Given the description of an element on the screen output the (x, y) to click on. 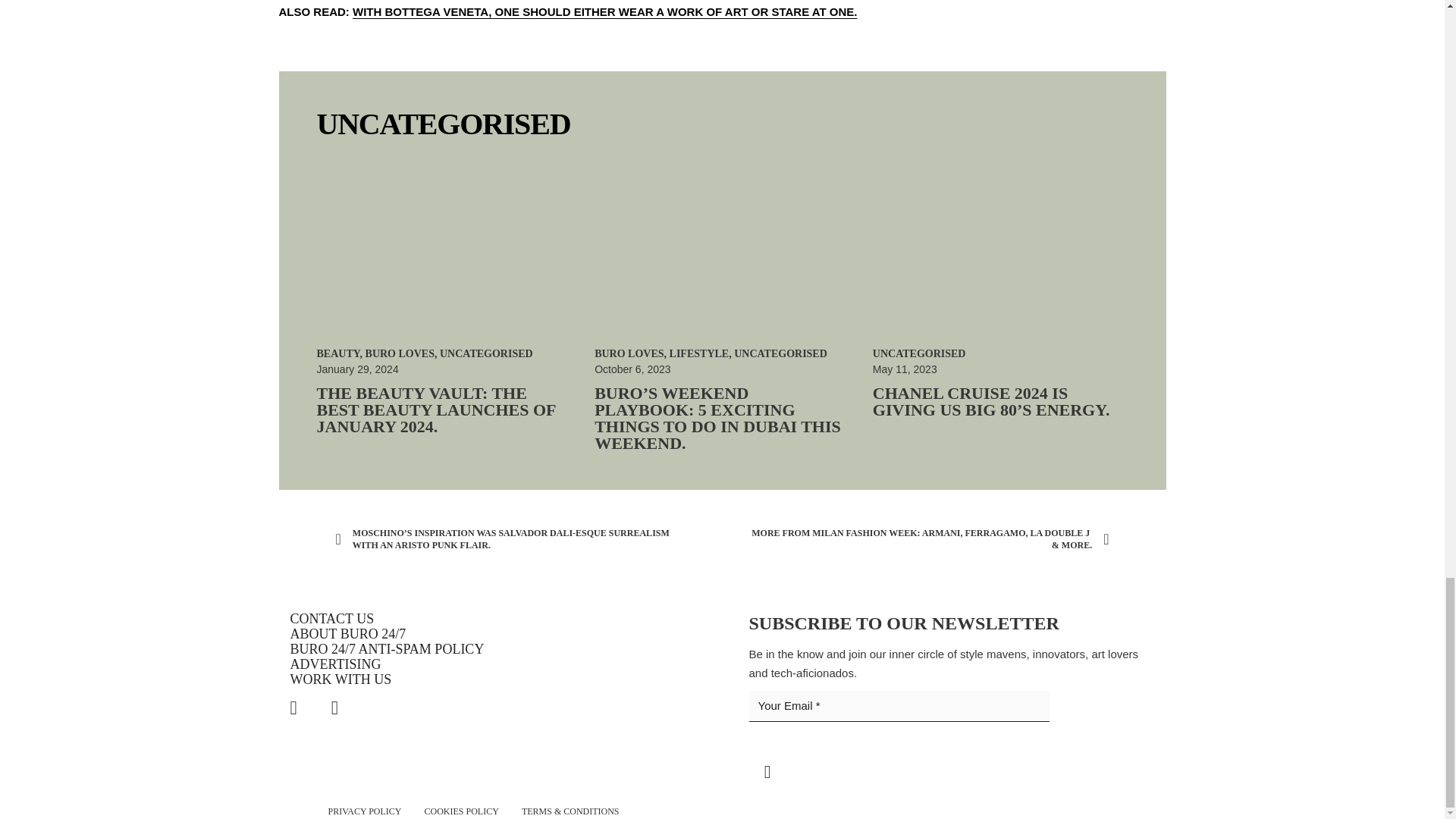
UNCATEGORISED (485, 353)
BEAUTY (338, 353)
UNCATEGORISED (443, 123)
THE BEAUTY VAULT: THE BEST BEAUTY LAUNCHES OF JANUARY 2024. (436, 409)
BURO LOVES (399, 353)
